Given the description of an element on the screen output the (x, y) to click on. 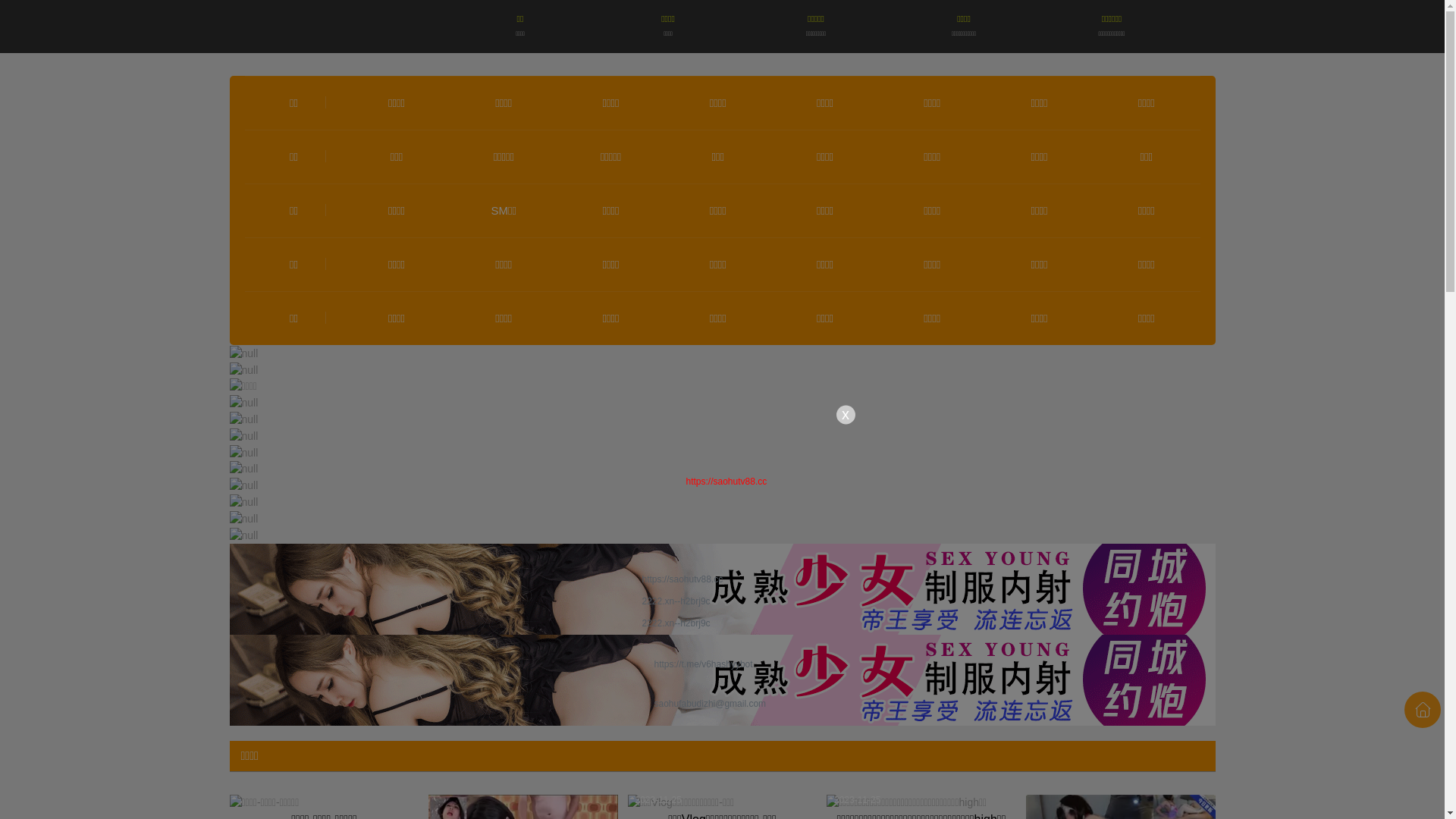
x Element type: text (844, 413)
https://t.me/v6hashyybot Element type: text (721, 662)
https://saohutv88.cc Element type: text (725, 481)
2222.xn--h2brj9c Element type: text (721, 621)
https://saohutv88.cc Element type: text (721, 577)
saohufabudizhi@gmail.com Element type: text (721, 702)
2222.xn--h2brj9c Element type: text (721, 600)
